Given the description of an element on the screen output the (x, y) to click on. 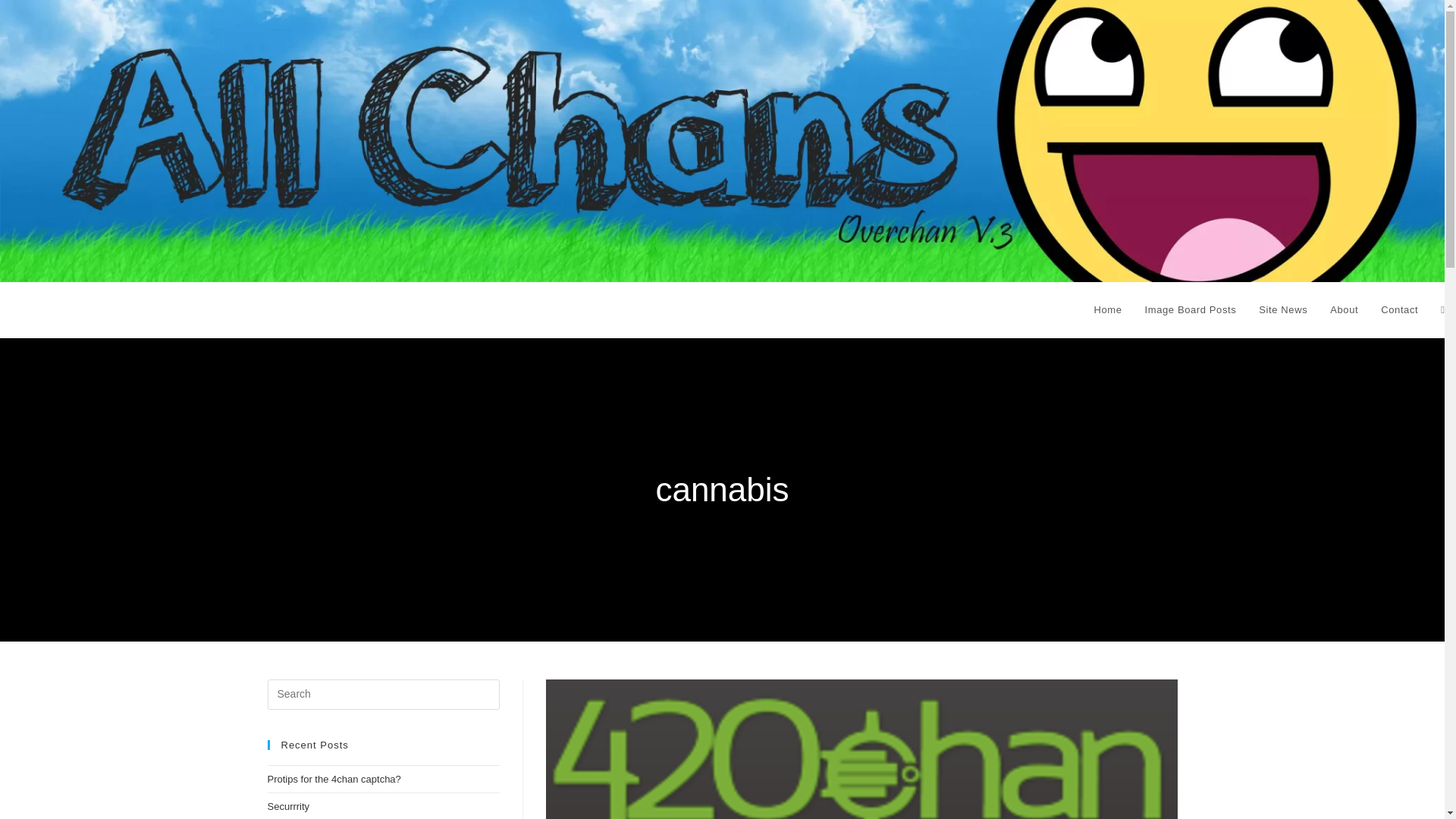
Contact (1399, 309)
Site News (1283, 309)
Protips for the 4chan captcha? (333, 778)
Home (1106, 309)
Securrrity (287, 806)
Image Board Posts (1190, 309)
About (1344, 309)
